Given the description of an element on the screen output the (x, y) to click on. 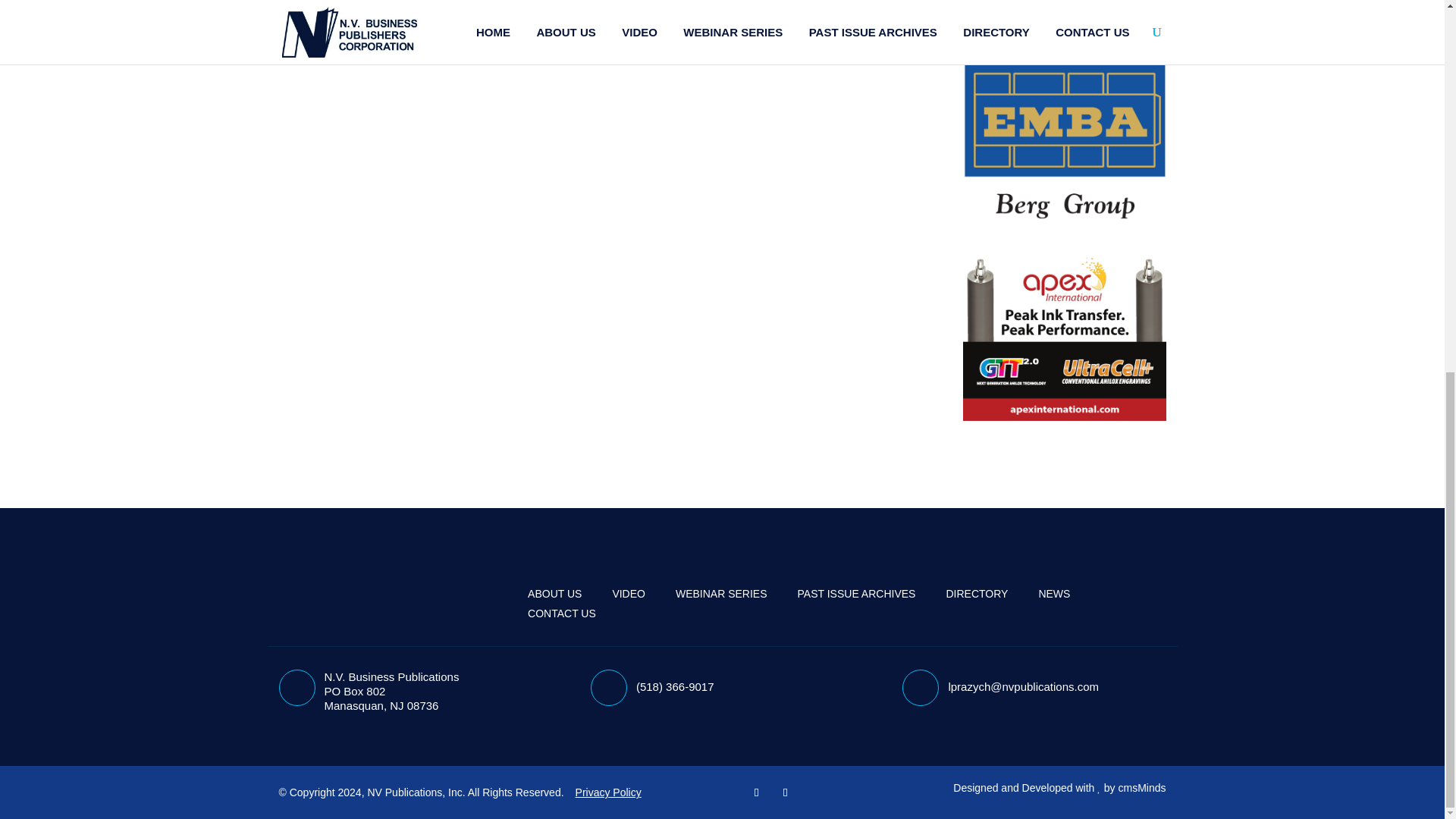
CONTACT US (561, 613)
NEWS (1054, 593)
DIRECTORY (975, 593)
WEBINAR SERIES (721, 593)
Follow on LinkedIn (785, 792)
VIDEO (628, 593)
Privacy Policy (608, 792)
Designed and Developed with by cmsMinds (1059, 787)
PAST ISSUE ARCHIVES (856, 593)
Follow on Facebook (756, 792)
